Given the description of an element on the screen output the (x, y) to click on. 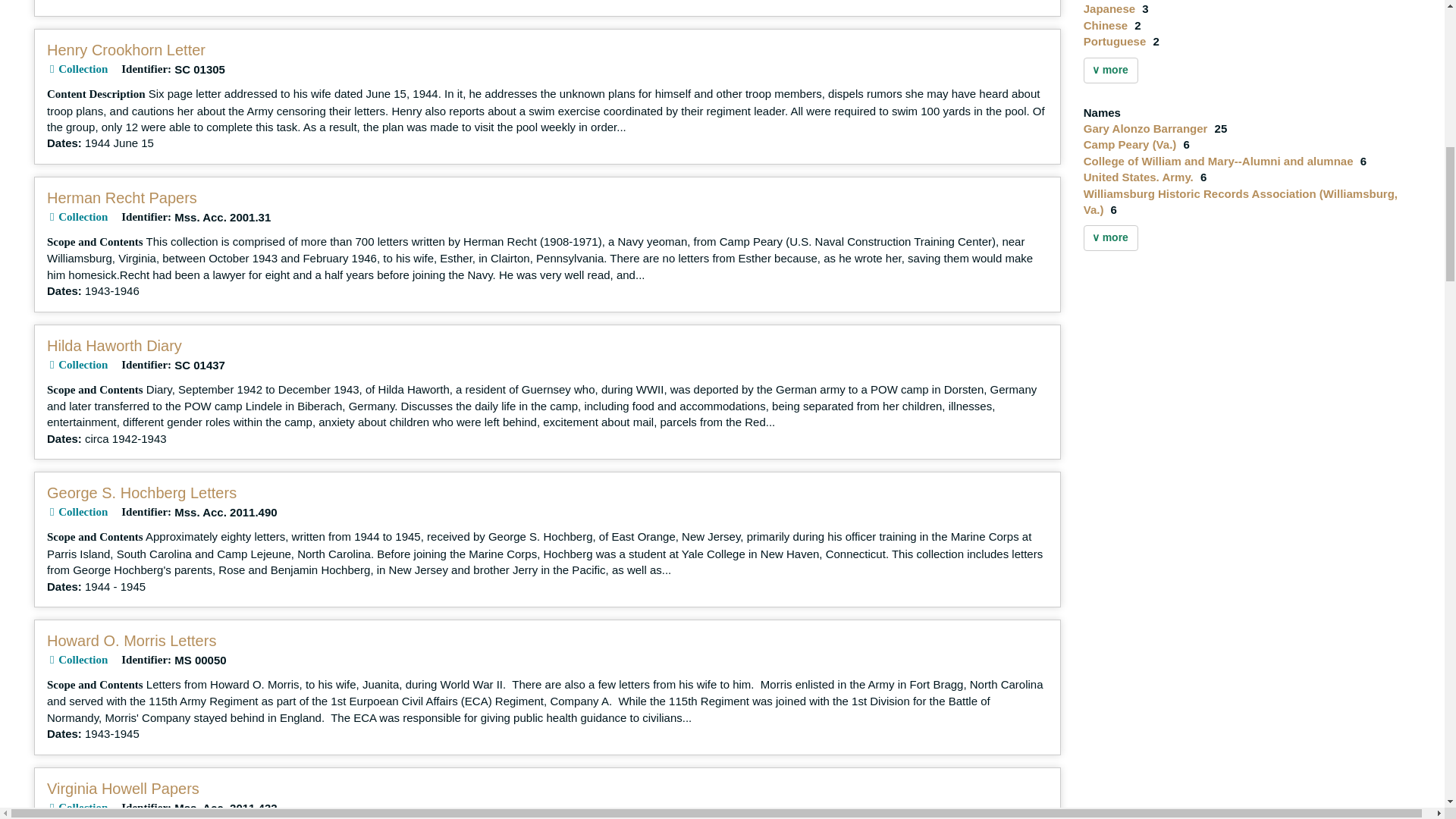
Herman Recht Papers (121, 197)
Henry Crookhorn Letter (125, 49)
